Given the description of an element on the screen output the (x, y) to click on. 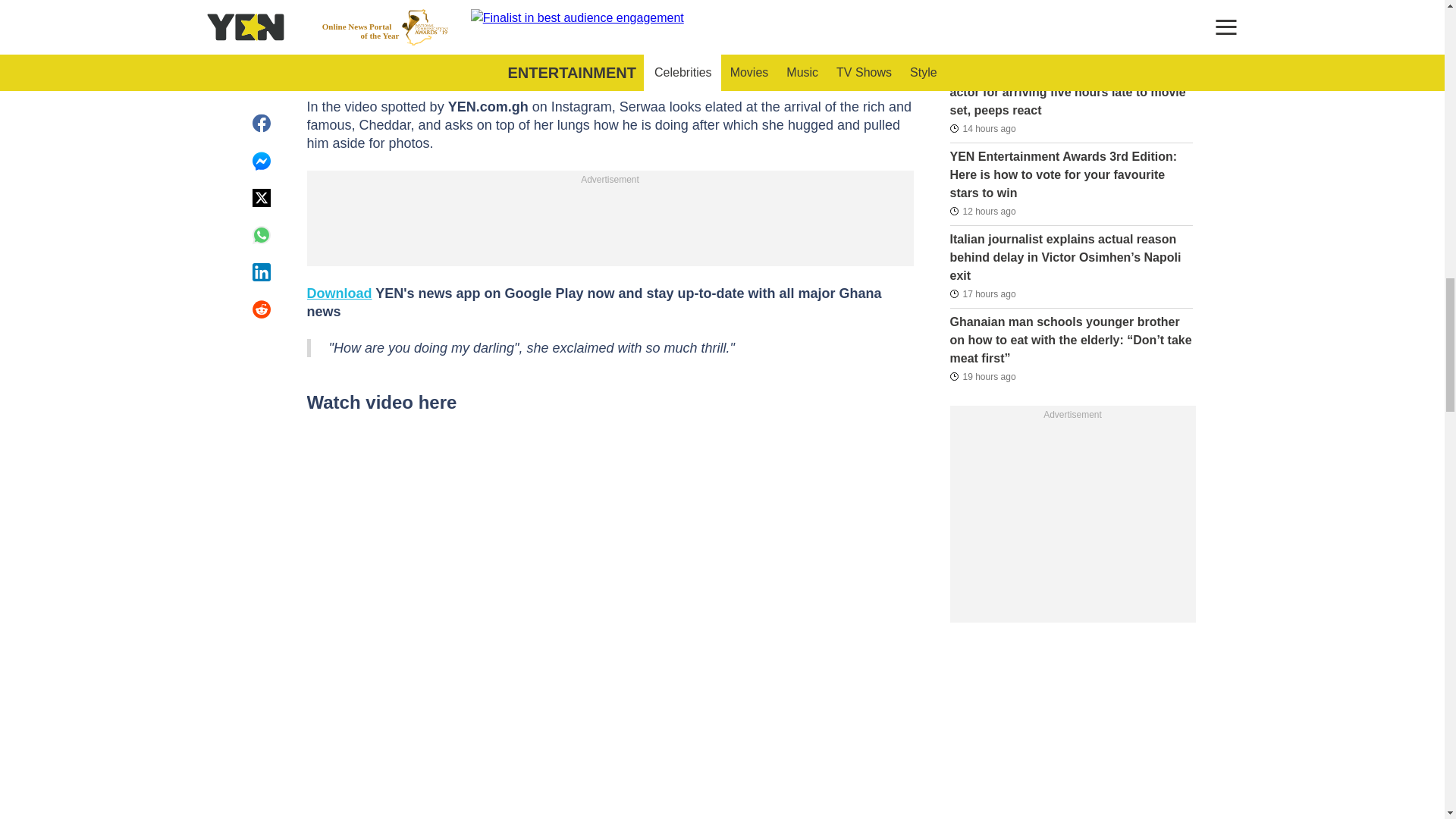
2024-08-12T12:55:05Z (981, 294)
2024-08-12T16:45:56Z (981, 45)
2024-08-12T17:47:55Z (981, 210)
2024-08-12T15:58:17Z (981, 128)
2024-08-12T10:23:12Z (981, 375)
